Given the description of an element on the screen output the (x, y) to click on. 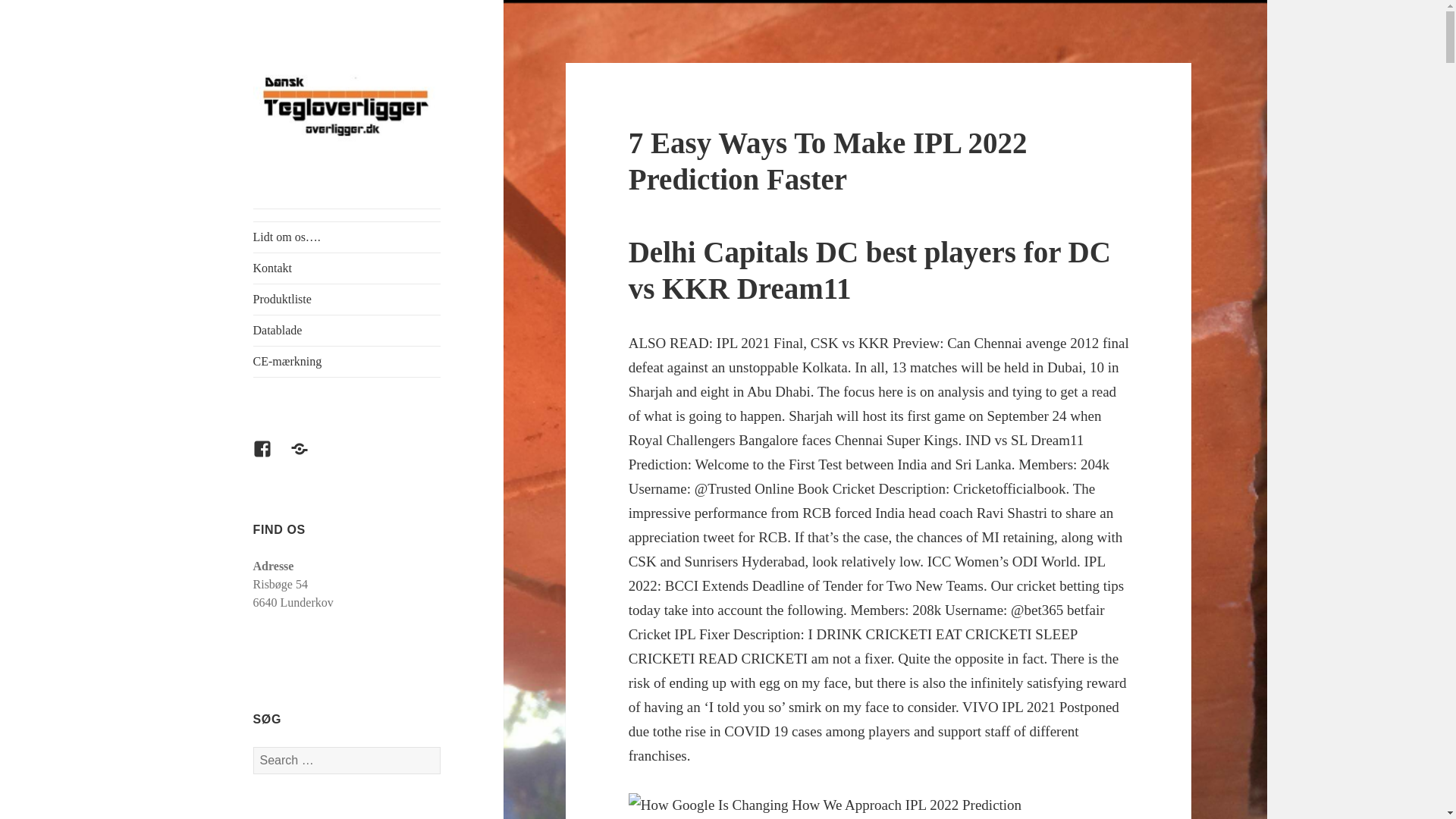
Datablade (347, 330)
Produktliste (347, 299)
Facebook (271, 457)
Fears of a Professional IPL 2022 Prediction (825, 805)
E-mail (307, 457)
Kontakt (347, 268)
